Given the description of an element on the screen output the (x, y) to click on. 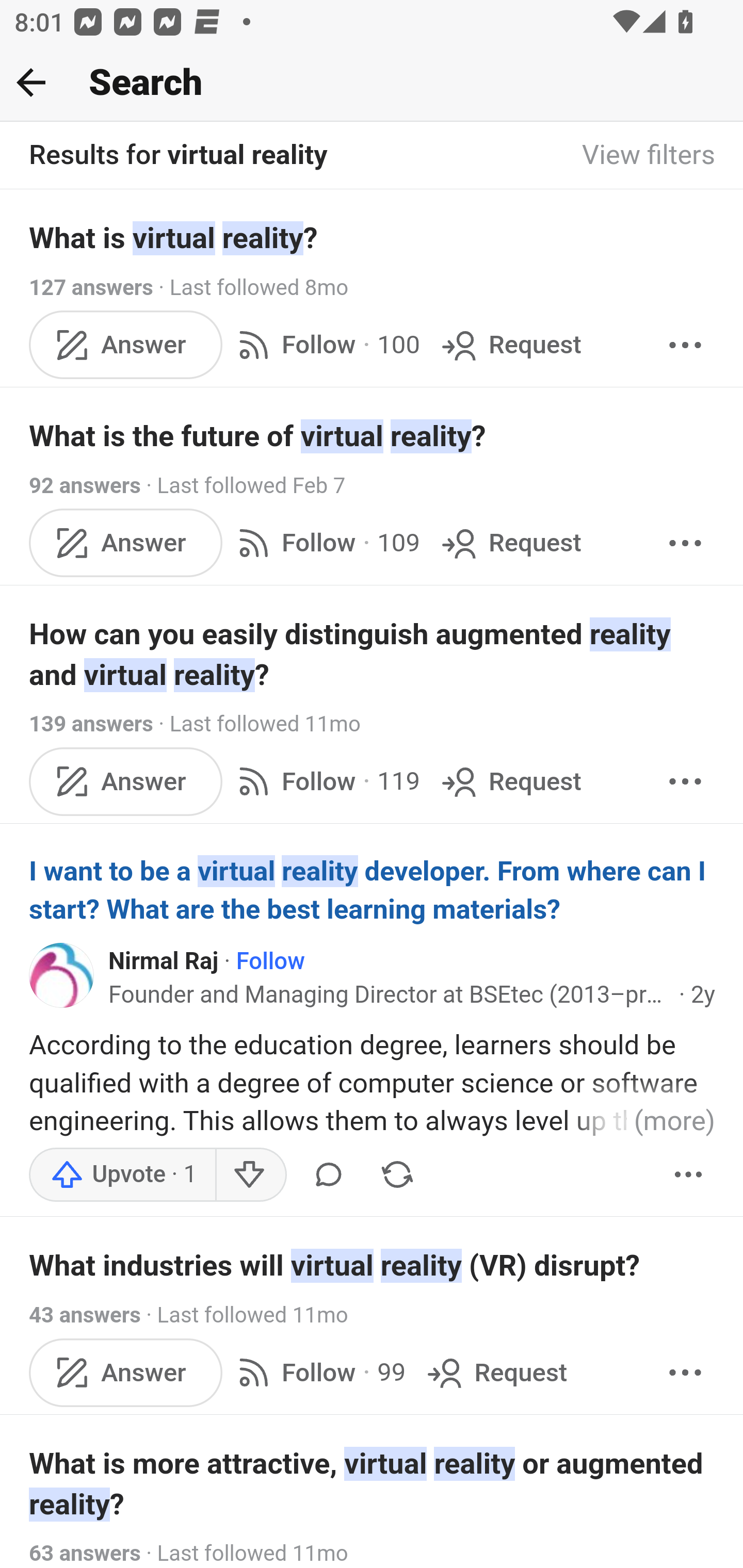
Back Search (371, 82)
Back (30, 82)
View filters (648, 155)
What is virtual reality? (372, 237)
127 answers 127  answers (90, 287)
Answer (125, 343)
Follow · 100 (324, 343)
Request (509, 343)
More (684, 343)
What is the future of virtual reality? (372, 436)
92 answers 92  answers (84, 484)
Answer (125, 543)
Follow · 109 (324, 543)
Request (509, 543)
More (684, 543)
139 answers 139  answers (90, 723)
Answer (125, 781)
Follow · 119 (324, 781)
Request (509, 781)
More (684, 781)
Profile photo for Nirmal Raj (61, 974)
Nirmal Raj (164, 961)
Follow (269, 961)
2y 2 y (702, 995)
Upvote (122, 1174)
Downvote (249, 1174)
Comment (328, 1174)
Share (397, 1174)
More (688, 1174)
What industries will virtual reality (VR) disrupt? (372, 1265)
43 answers 43  answers (84, 1316)
Answer (125, 1371)
Follow · 99 (317, 1371)
Request (495, 1371)
More (684, 1371)
